Given the description of an element on the screen output the (x, y) to click on. 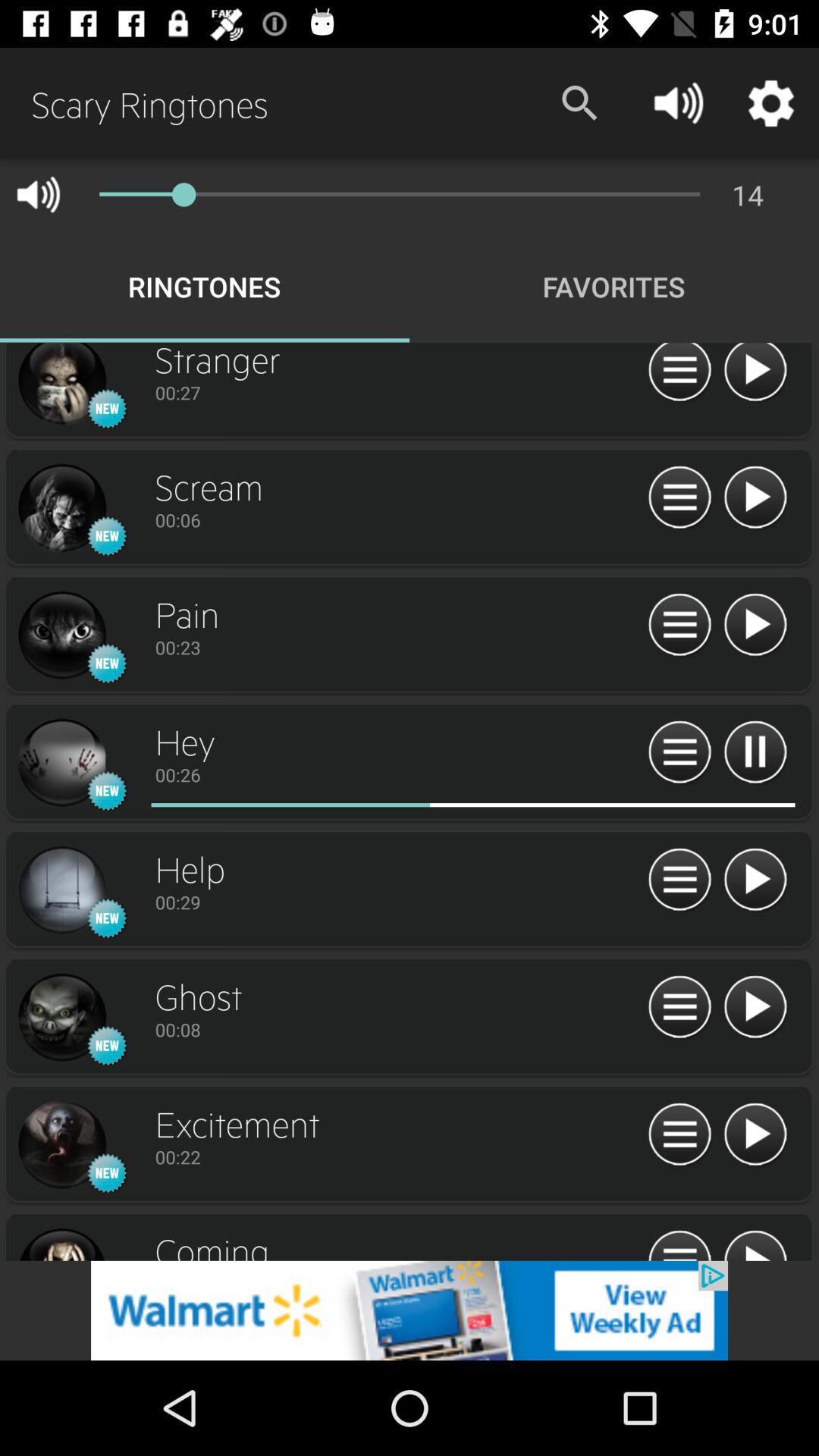
ringtone info (679, 1243)
